Given the description of an element on the screen output the (x, y) to click on. 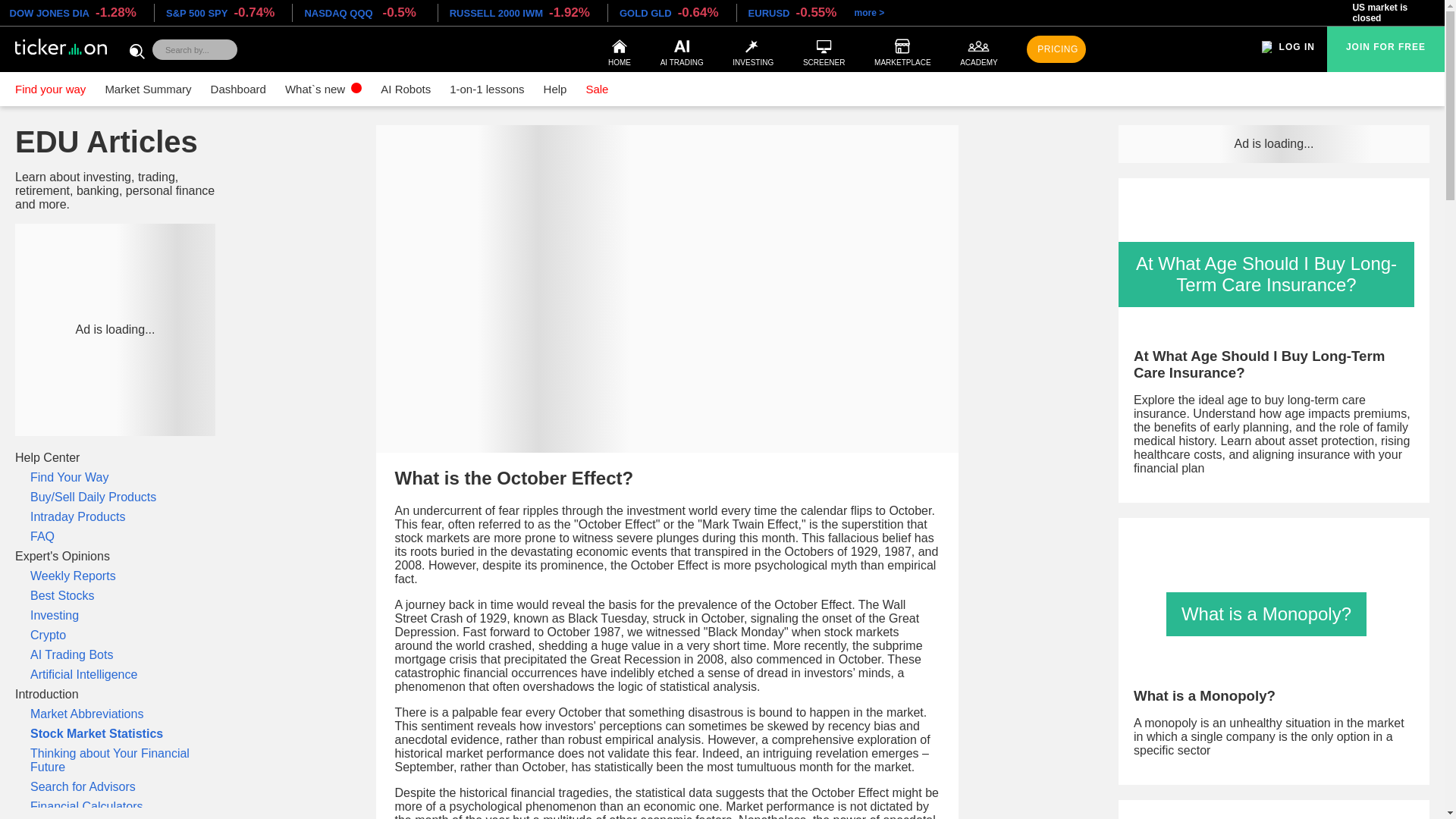
AI Trading Bots (114, 654)
Dashboard (238, 88)
Help (555, 88)
LOG IN (1296, 46)
SCREENER (824, 49)
PRICING (1056, 49)
Thinking about Your Financial Future (114, 759)
DOW JONES DIA (48, 12)
Weekly Reports (114, 576)
MARKETPLACE (902, 49)
Market Summary (147, 88)
AI TRADING (682, 49)
INVESTING (752, 49)
Crypto (114, 635)
AI Robots (405, 88)
